Given the description of an element on the screen output the (x, y) to click on. 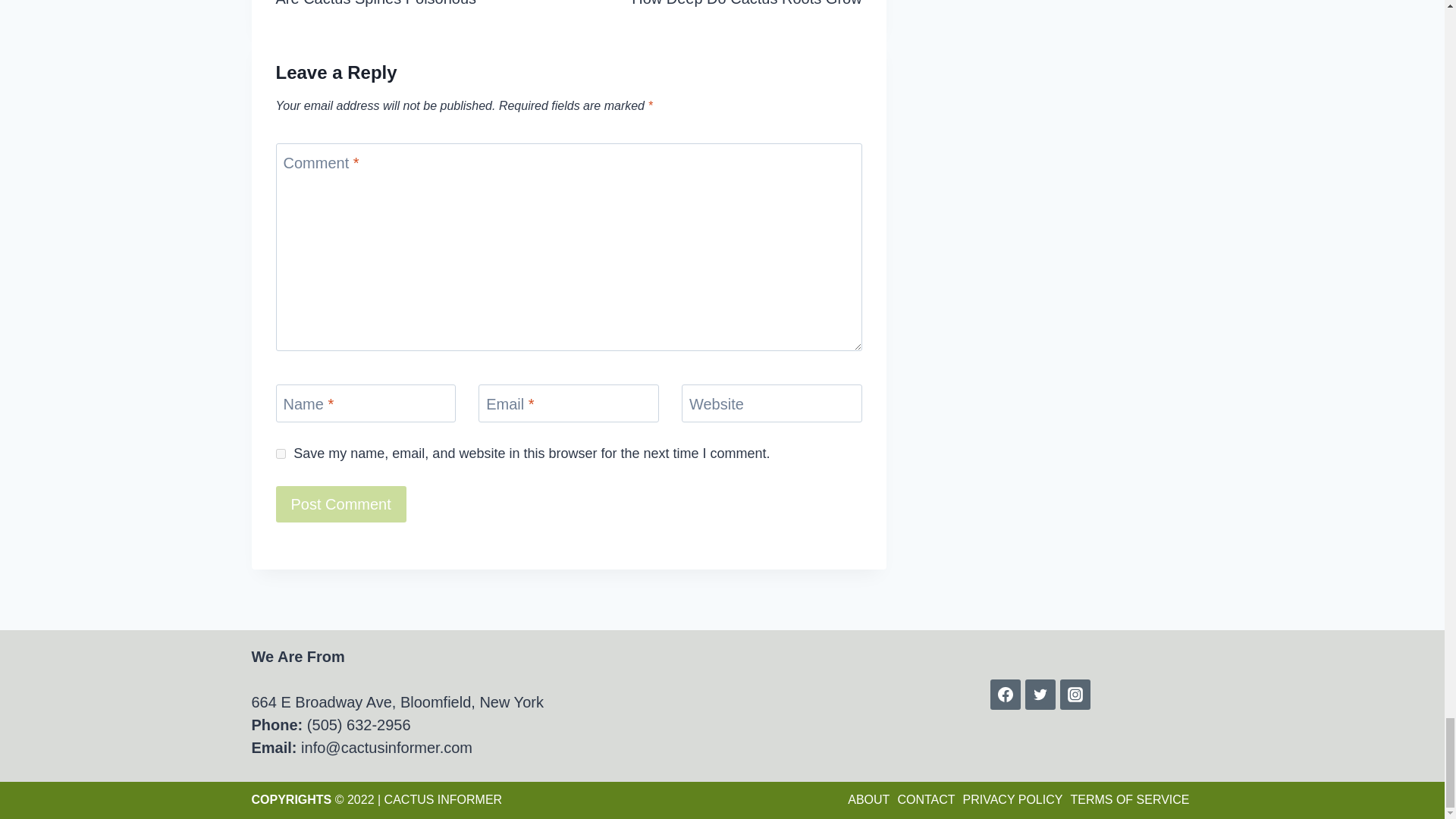
Post Comment (715, 5)
Post Comment (341, 504)
yes (341, 504)
